Given the description of an element on the screen output the (x, y) to click on. 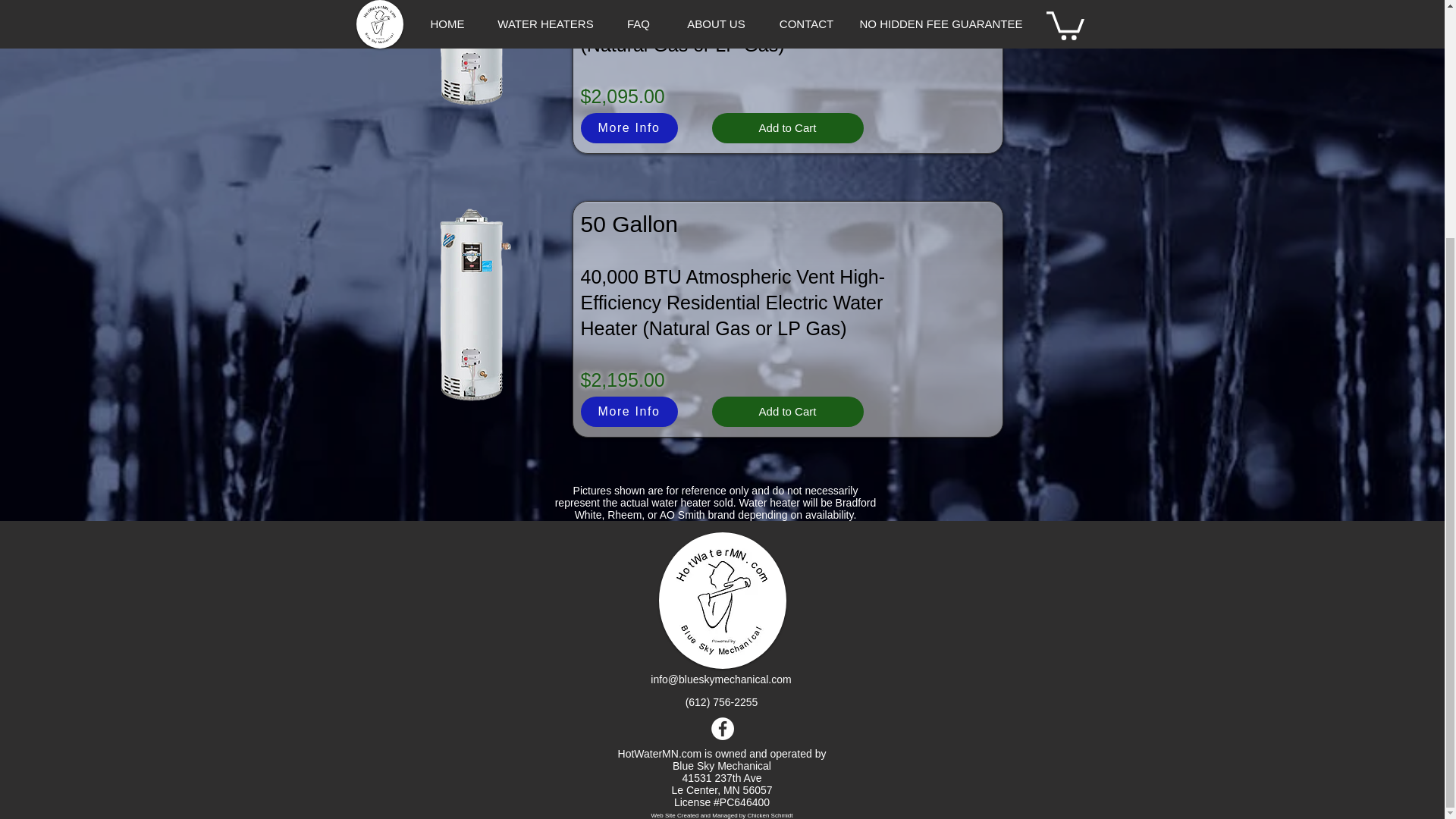
More Info (629, 411)
Add to Cart (787, 128)
Add to Cart (787, 411)
More Info (629, 128)
